Given the description of an element on the screen output the (x, y) to click on. 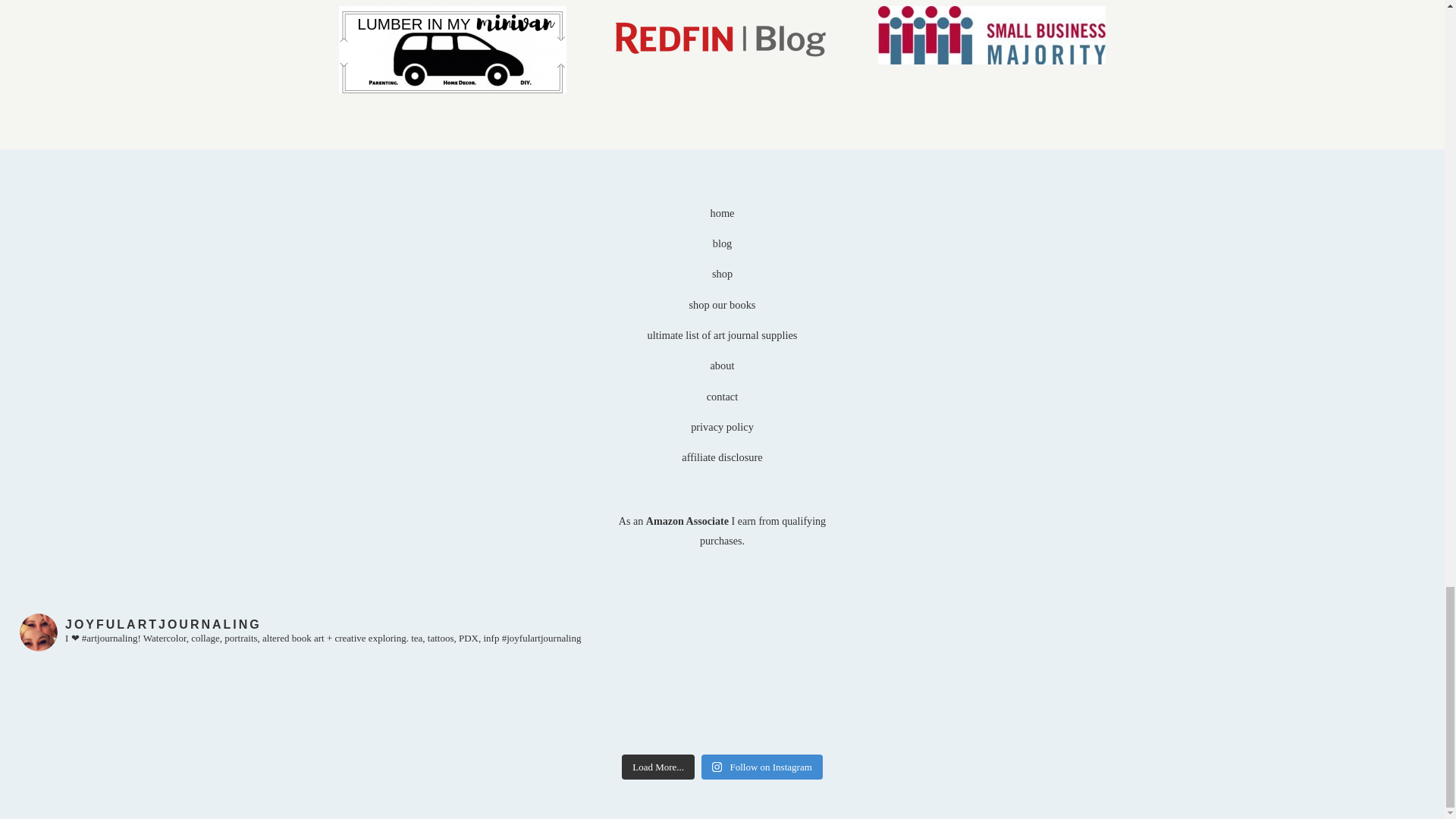
shop our books (721, 304)
contact (722, 396)
Amazon Associate (687, 521)
privacy policy (722, 426)
affiliate disclosure (721, 457)
home (721, 213)
ultimate list of art journal supplies (722, 335)
blog (722, 243)
about (721, 365)
shop (721, 273)
